Given the description of an element on the screen output the (x, y) to click on. 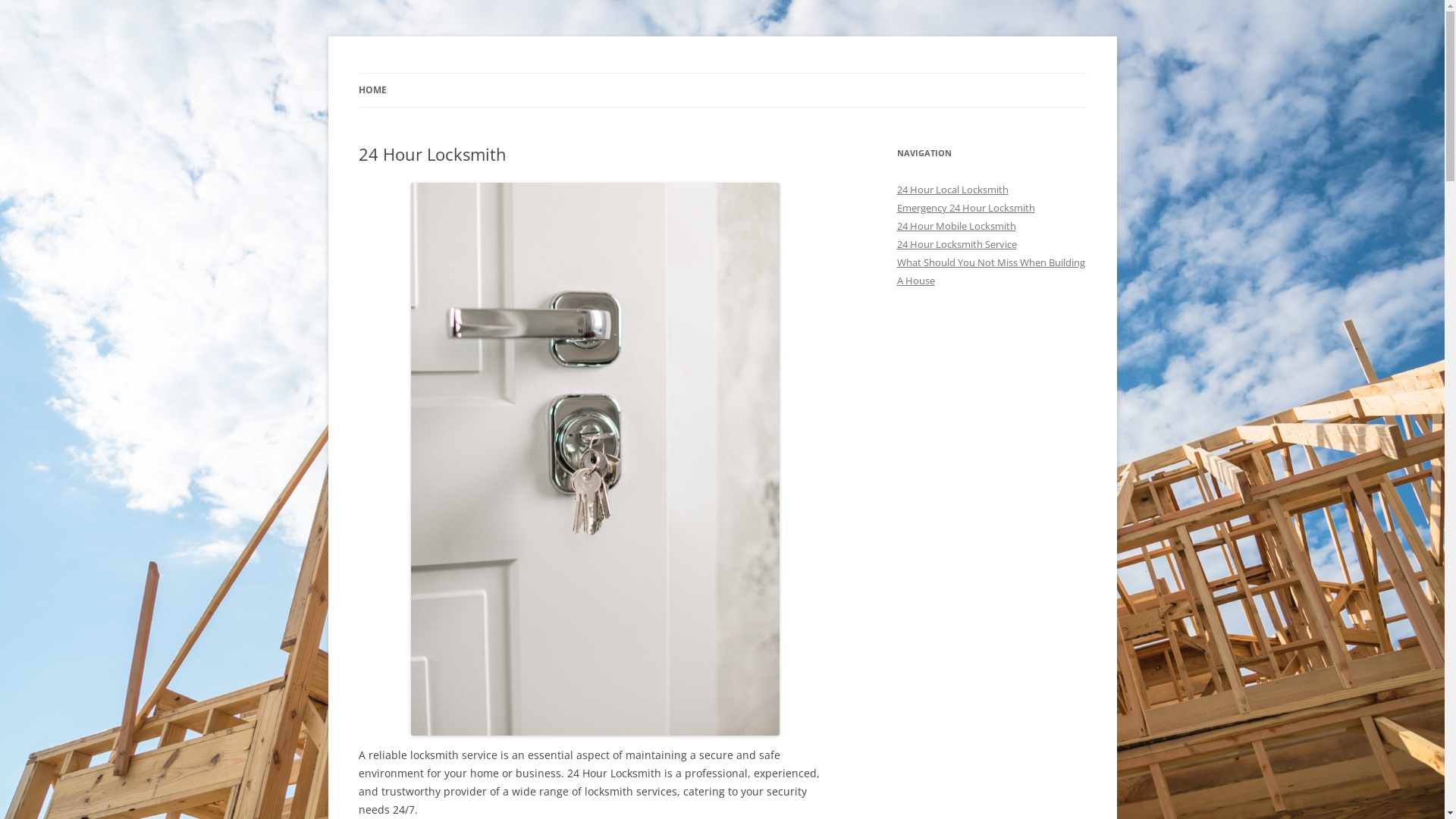
24 Hour Locksmith Service Element type: text (956, 244)
24 Hour Local Locksmith Element type: text (951, 189)
HOME Element type: text (371, 89)
24 Hour Mobile Locksmith Element type: text (955, 225)
24 Hour Locksmith Element type: text (449, 72)
Emergency 24 Hour Locksmith Element type: text (965, 207)
Skip to content Element type: text (721, 72)
What Should You Not Miss When Building A House Element type: text (990, 271)
